Given the description of an element on the screen output the (x, y) to click on. 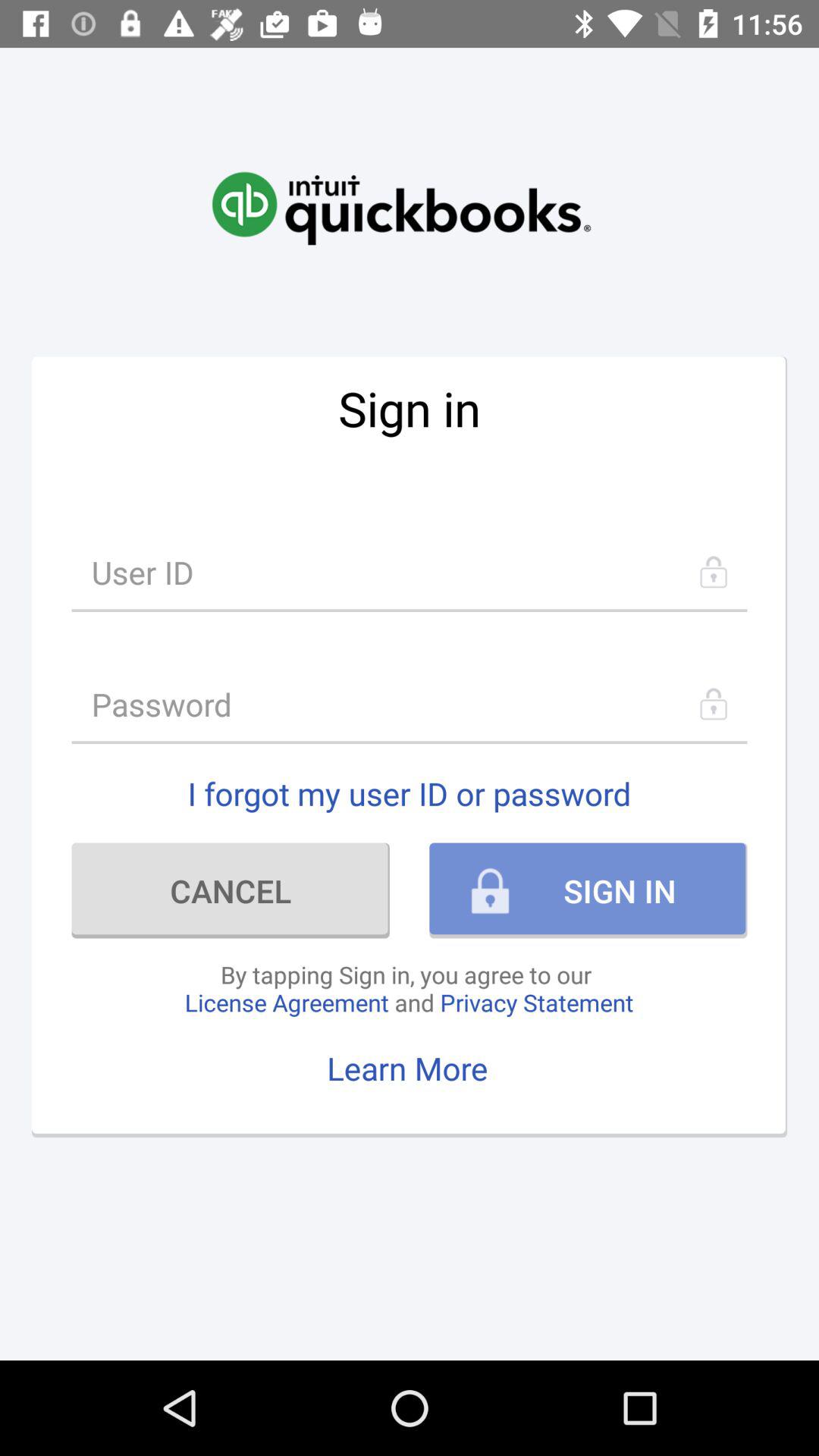
enter password (409, 703)
